Given the description of an element on the screen output the (x, y) to click on. 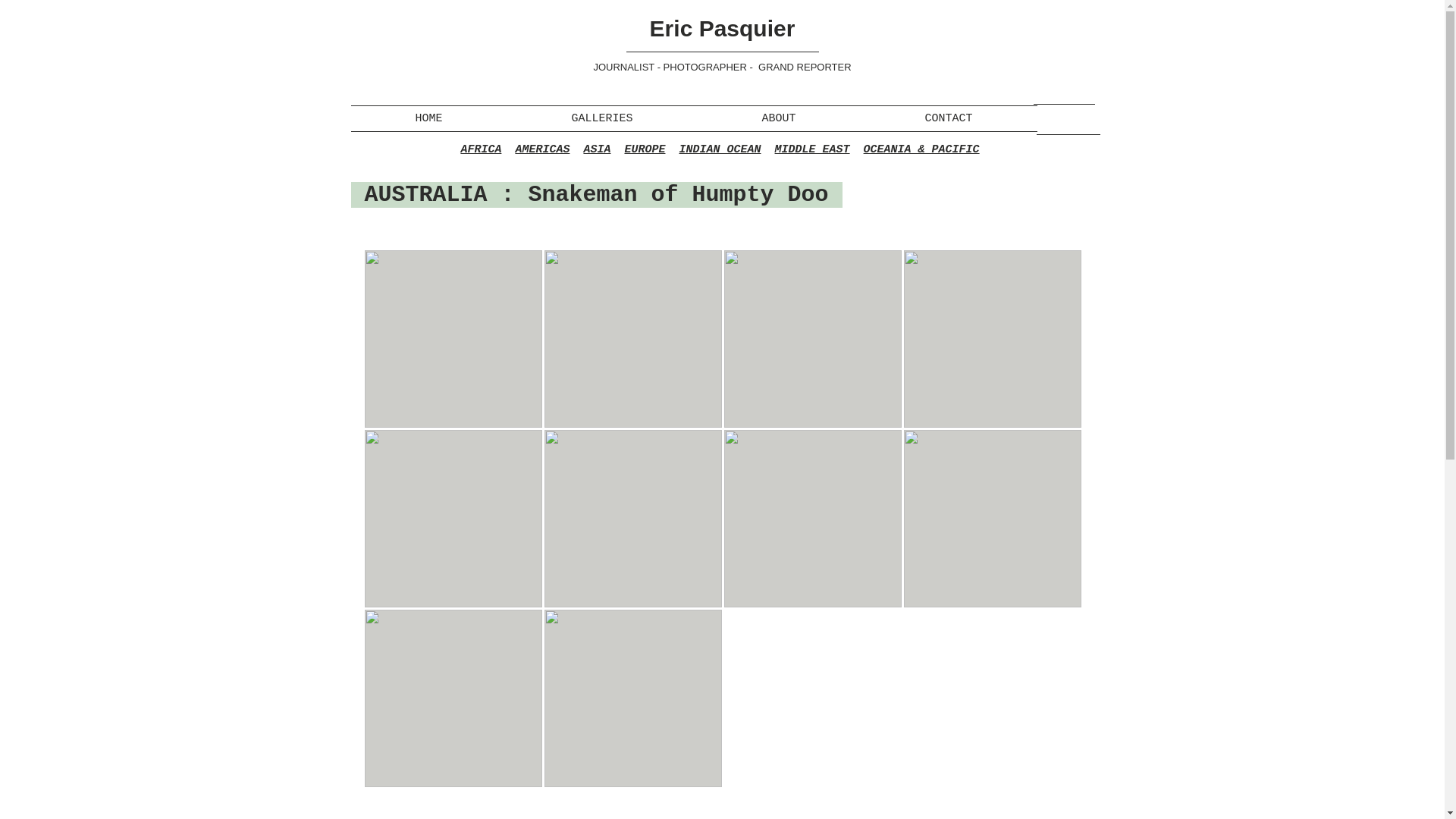
ASIA (596, 149)
JOURNALIST - PHOTOGRAPHER -  GRAND REPORTER (721, 66)
EUROPE (644, 149)
INDIAN OCEAN (720, 149)
CONTACT (948, 118)
GALLERIES (601, 118)
AUSTRALIA (426, 194)
AMERICAS (542, 149)
MIDDLE EAST (812, 149)
ABOUT (778, 118)
Eric Pasquier (721, 27)
HOME (428, 118)
AFRICA (480, 149)
